Given the description of an element on the screen output the (x, y) to click on. 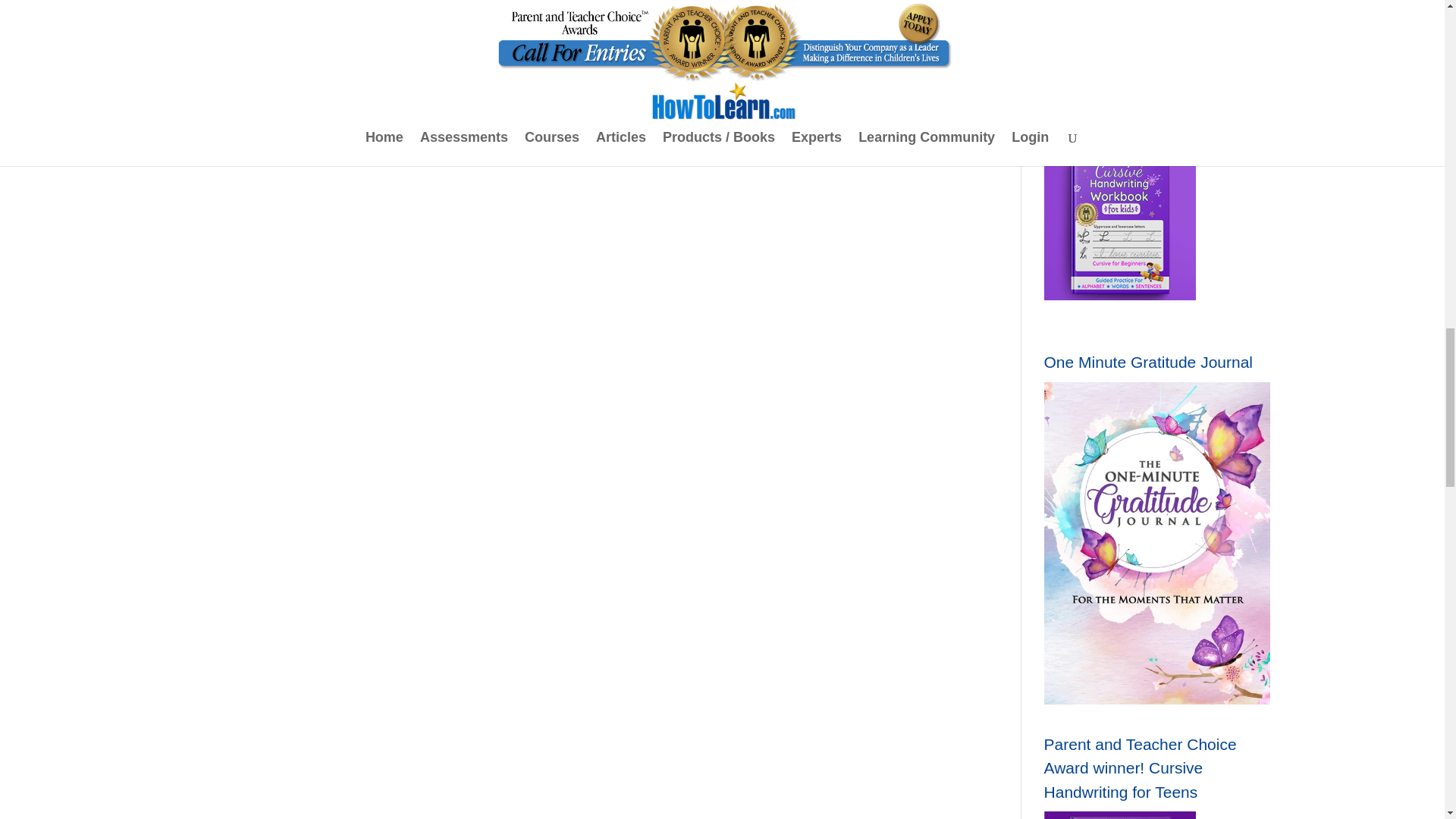
ABCs of Academic Success Course for LD Kids 5-13 (1119, 224)
